Given the description of an element on the screen output the (x, y) to click on. 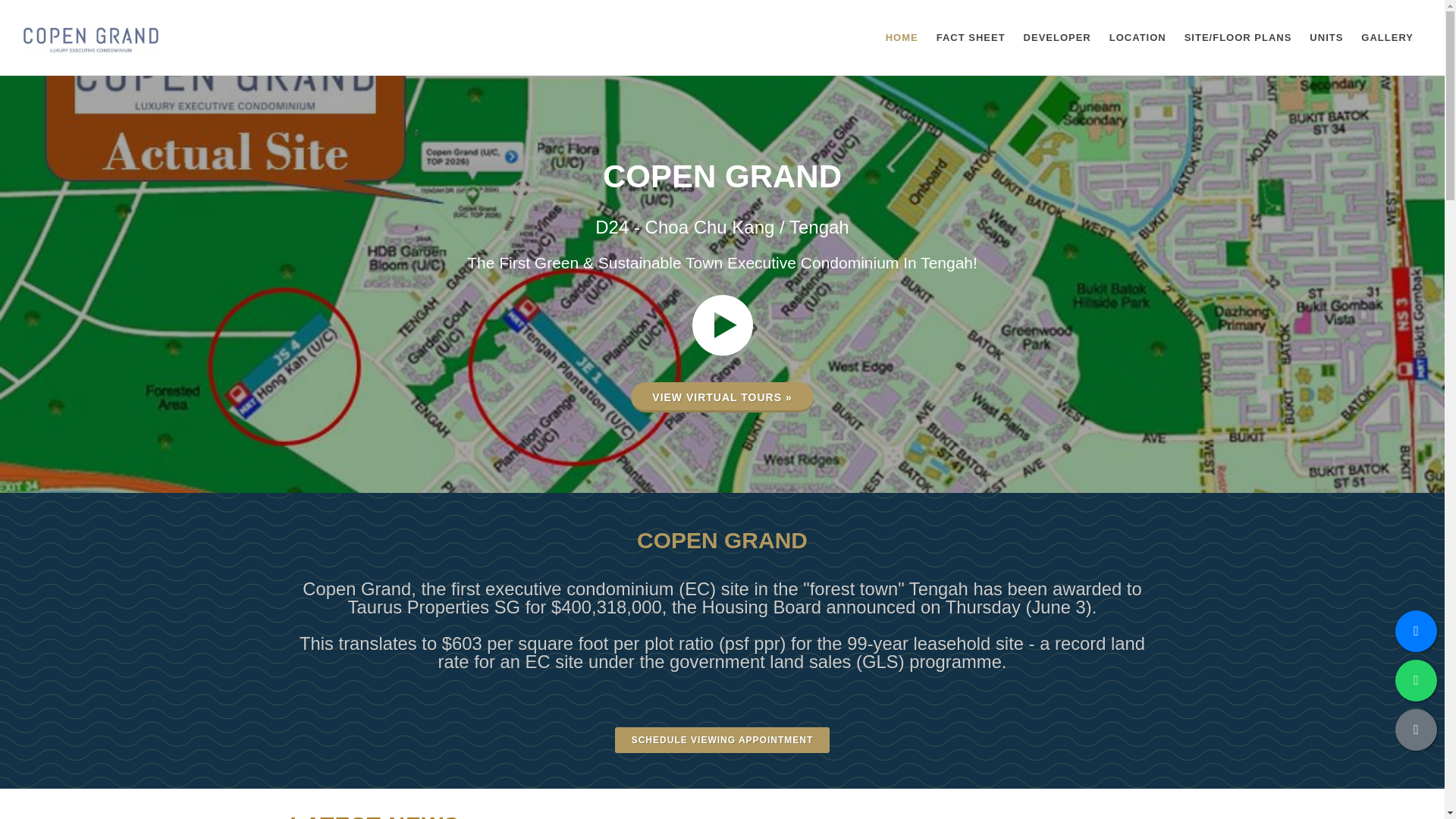
DEVELOPER (1056, 38)
GALLERY (1387, 38)
LOCATION (1137, 38)
SCHEDULE VIEWING APPOINTMENT (721, 739)
FACT SHEET (970, 38)
